Given the description of an element on the screen output the (x, y) to click on. 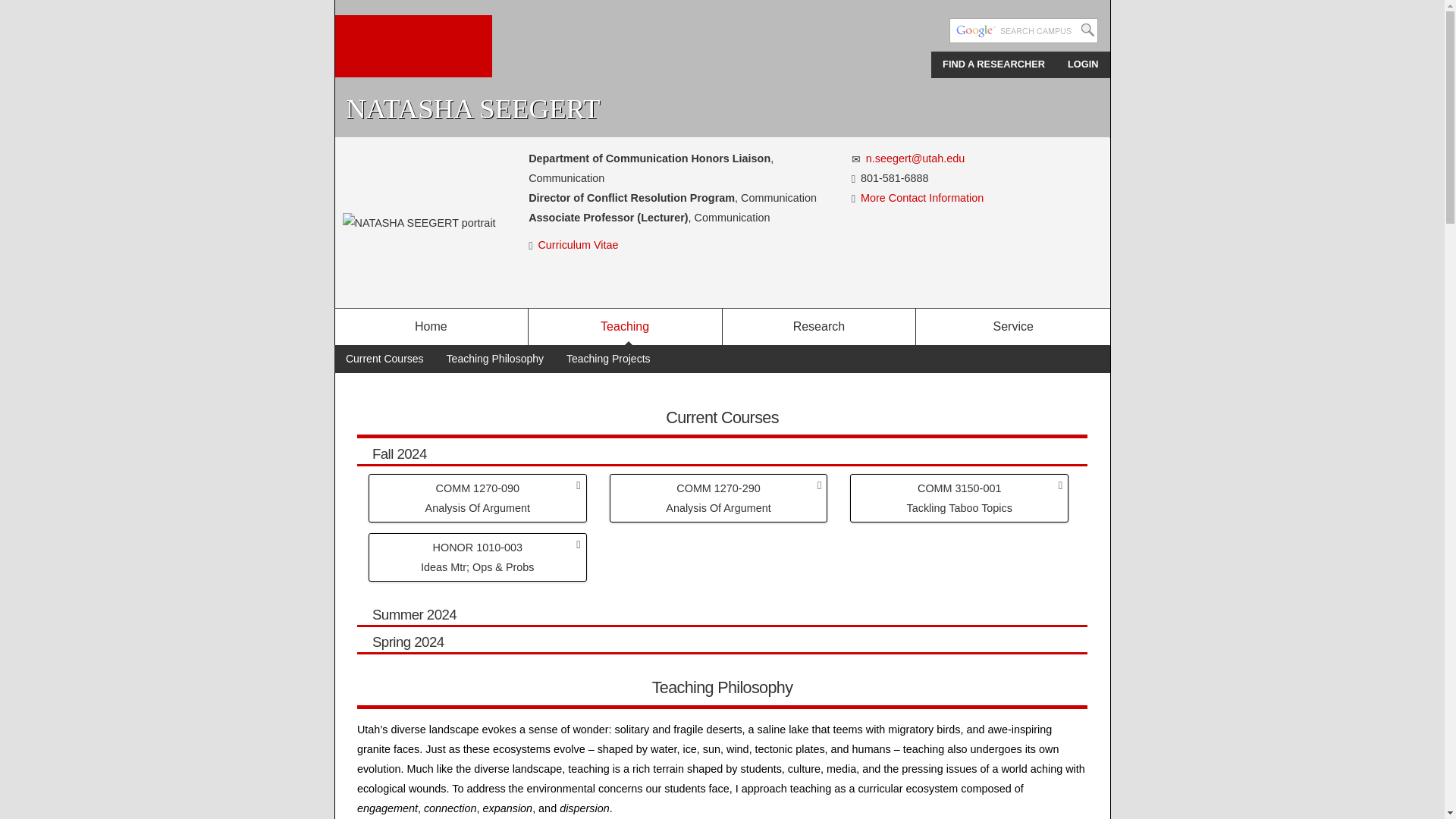
Submit Search (1087, 29)
opens new window (579, 244)
NATASHA SEEGERT portrait (419, 222)
Curriculum Vitae (579, 244)
LOGIN (1083, 64)
email (857, 158)
FIND A RESEARCHER (993, 64)
More Contact Information (922, 197)
Enter Search Terms (1023, 30)
Search (1087, 29)
